Given the description of an element on the screen output the (x, y) to click on. 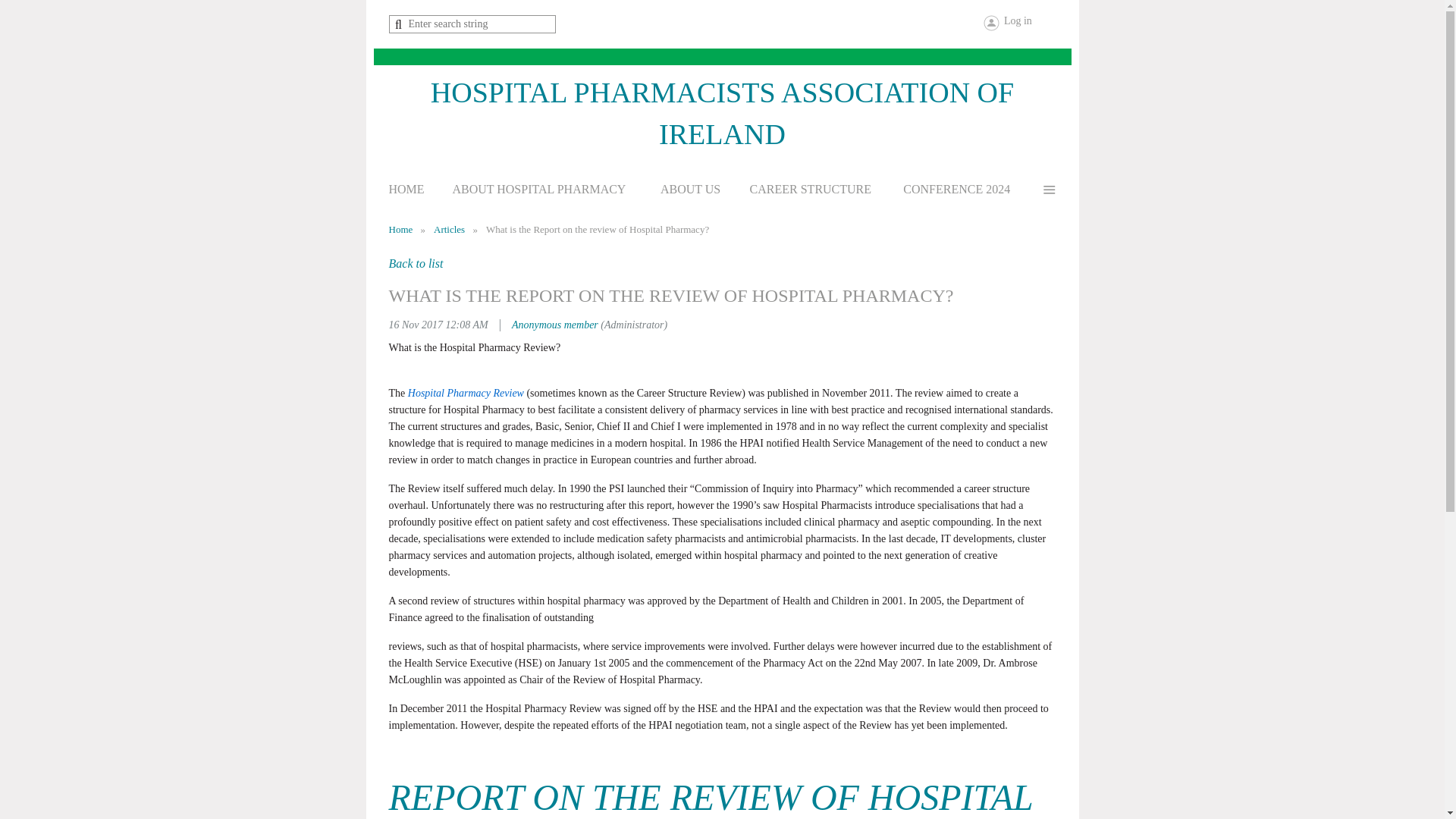
Log in (1008, 23)
Home (400, 229)
Conference 2024 (968, 193)
Back to list (415, 263)
About Hospital Pharmacy (550, 193)
Articles (448, 229)
ABOUT US (703, 193)
ABOUT HOSPITAL PHARMACY (550, 193)
Hospital Pharmacy Review (465, 392)
Anonymous member (555, 324)
